Given the description of an element on the screen output the (x, y) to click on. 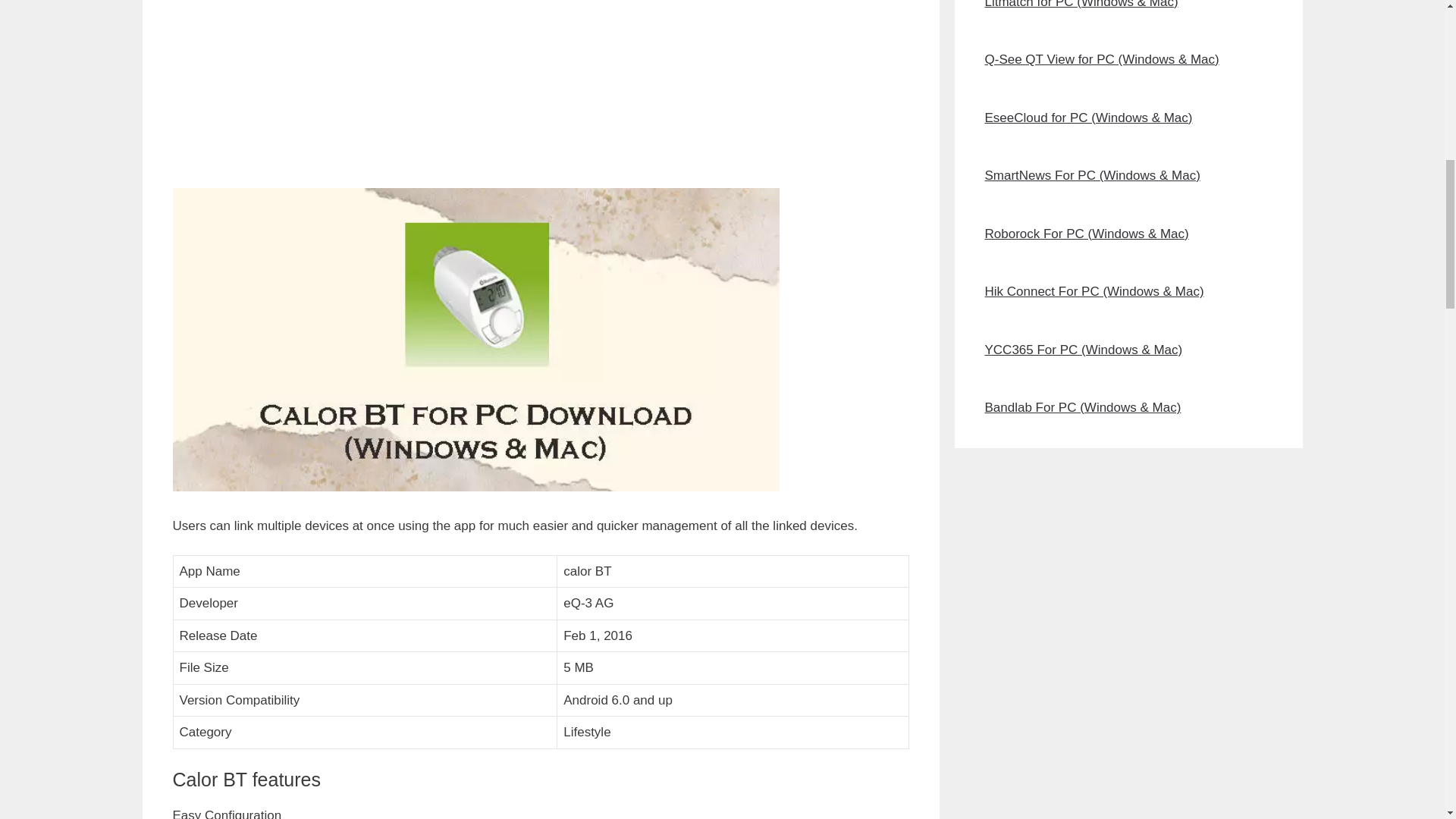
Scroll back to top (1406, 720)
Advertisement (540, 90)
